Given the description of an element on the screen output the (x, y) to click on. 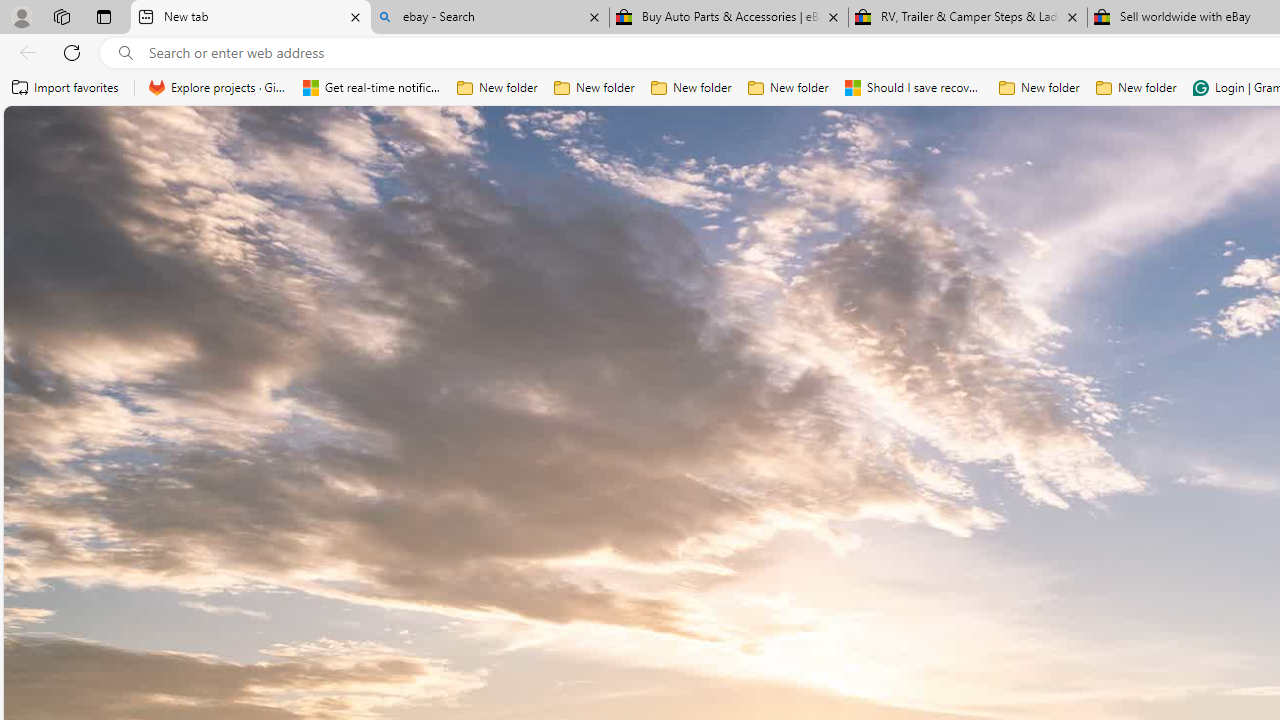
AutomationID: tab-27 (846, 576)
Wikipedia (1017, 223)
Dailymotion (1138, 507)
Import favorites (65, 88)
View comments 167 Comment (11, 575)
View comments 1 Comment (619, 575)
